Given the description of an element on the screen output the (x, y) to click on. 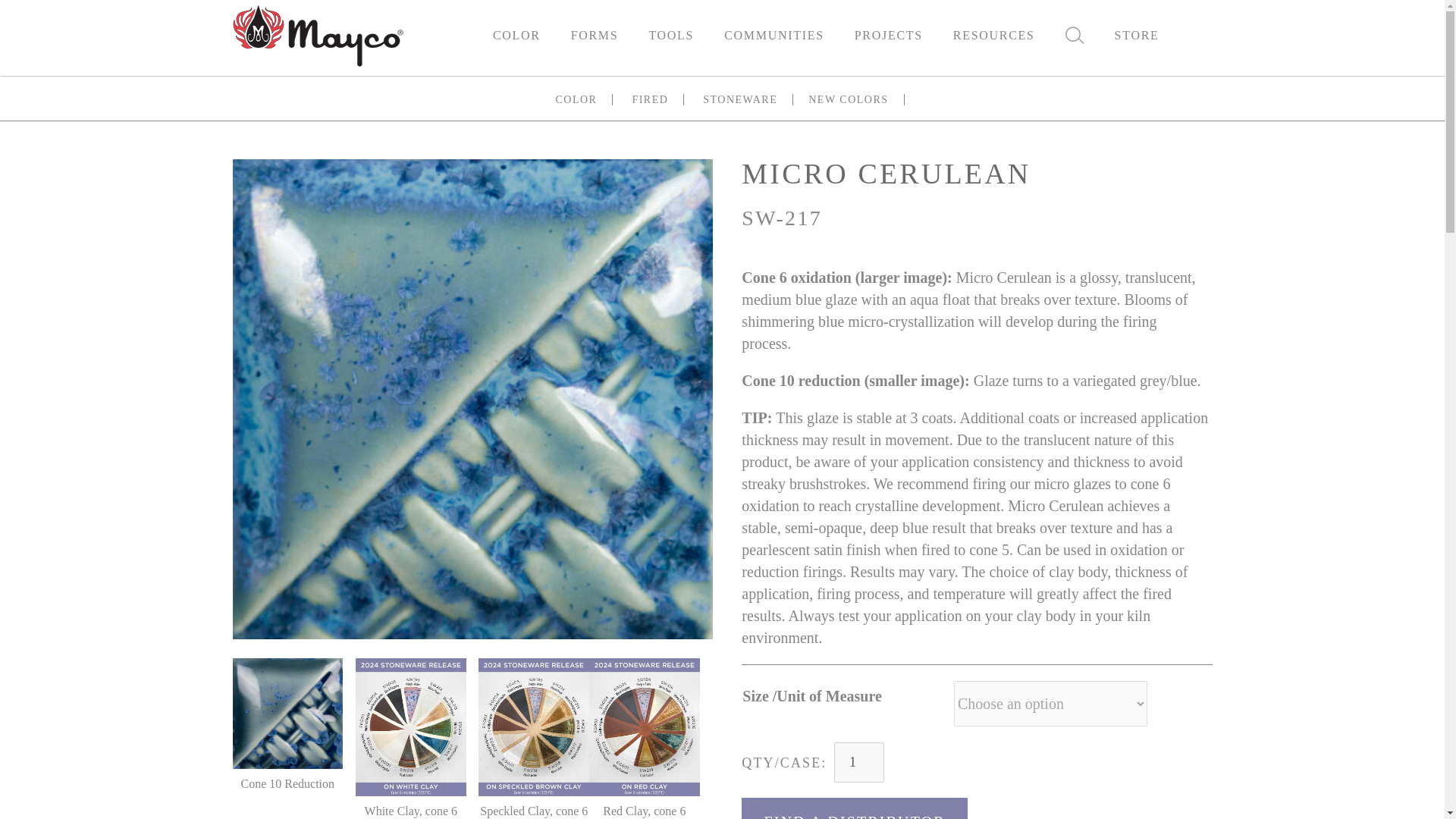
Mayco (317, 33)
1 (844, 35)
